Given the description of an element on the screen output the (x, y) to click on. 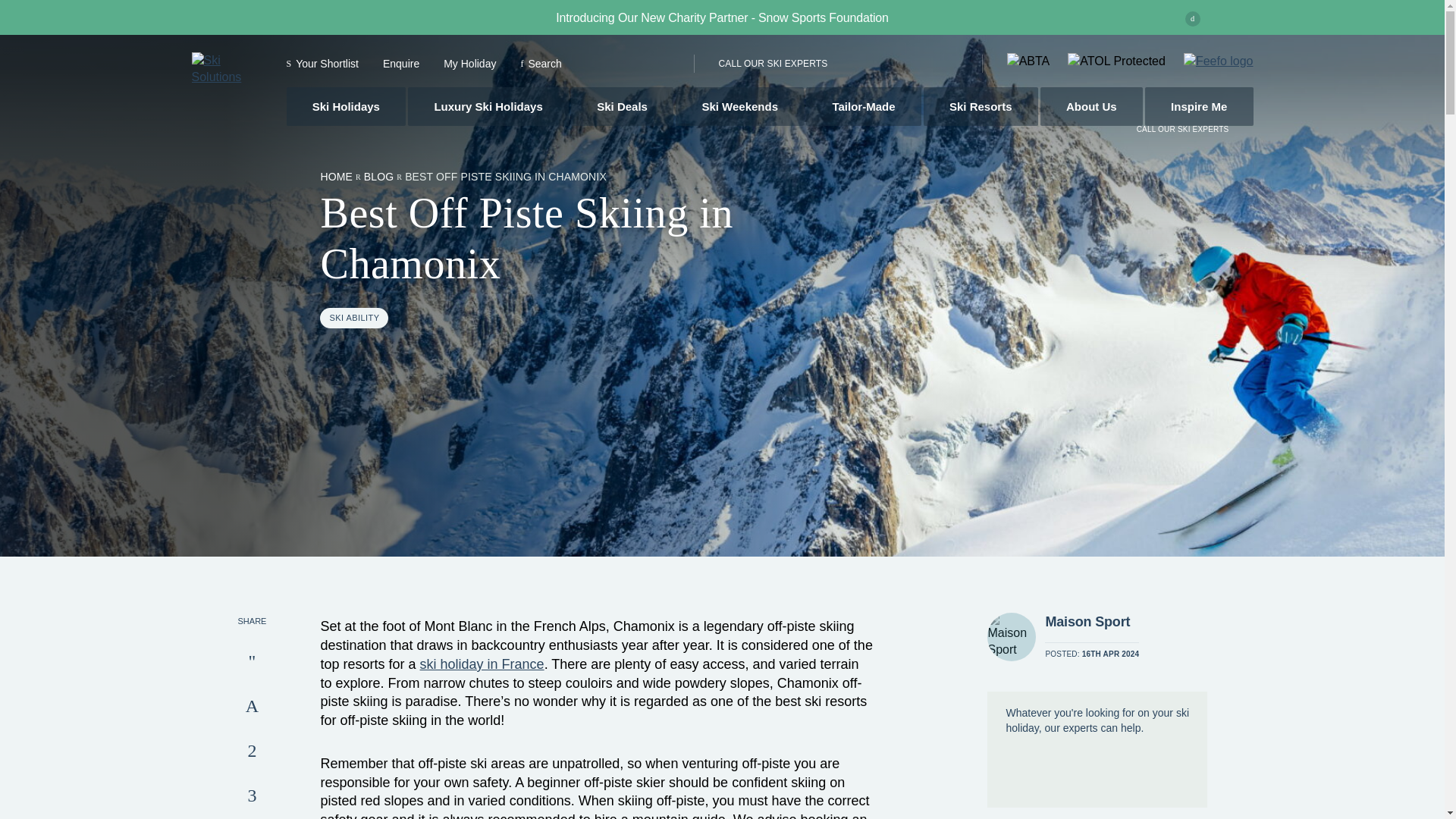
See what our customers say about us (1218, 61)
Tailor-Made (863, 106)
Ski Deals (621, 106)
Luxury Ski Holidays (488, 106)
About Us (1091, 106)
Enquire (400, 63)
Your Shortlist (322, 63)
Inspire Me (1198, 106)
Tailor-Made (863, 106)
My Holiday (470, 63)
Ski Holidays (346, 106)
Search (539, 63)
Introducing Our New Charity Partner - Snow Sports Foundation (721, 17)
Ski Weekends (739, 106)
Ski Resorts (980, 106)
